Given the description of an element on the screen output the (x, y) to click on. 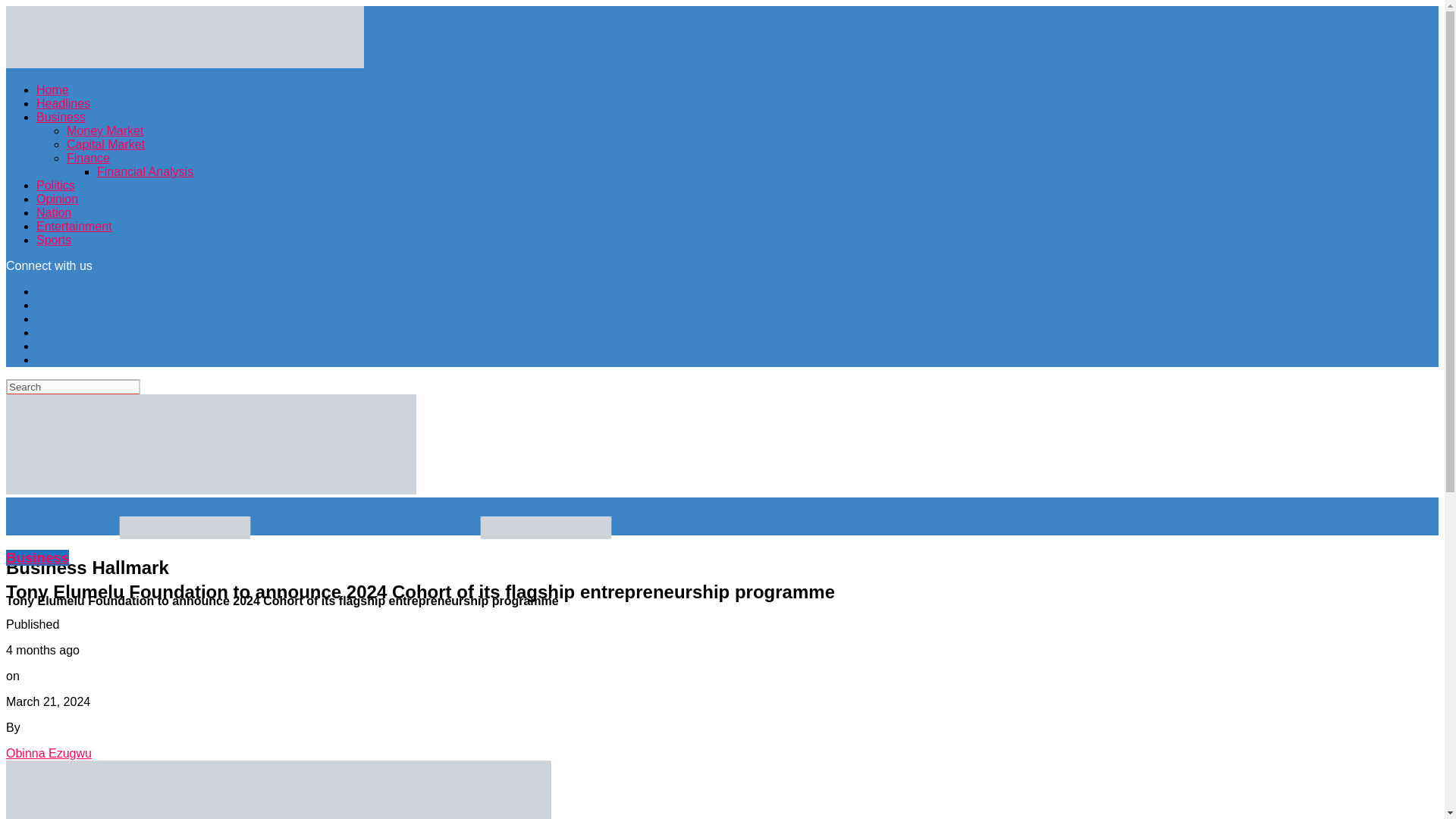
Search (72, 386)
Headlines (63, 103)
Business (60, 116)
Financial Analysis (145, 171)
Capital Market (105, 144)
Politics (55, 185)
Sports (53, 239)
Opinion (57, 198)
Finance (88, 157)
Home (52, 89)
Nation (53, 212)
Entertainment (74, 226)
Money Market (104, 130)
